Given the description of an element on the screen output the (x, y) to click on. 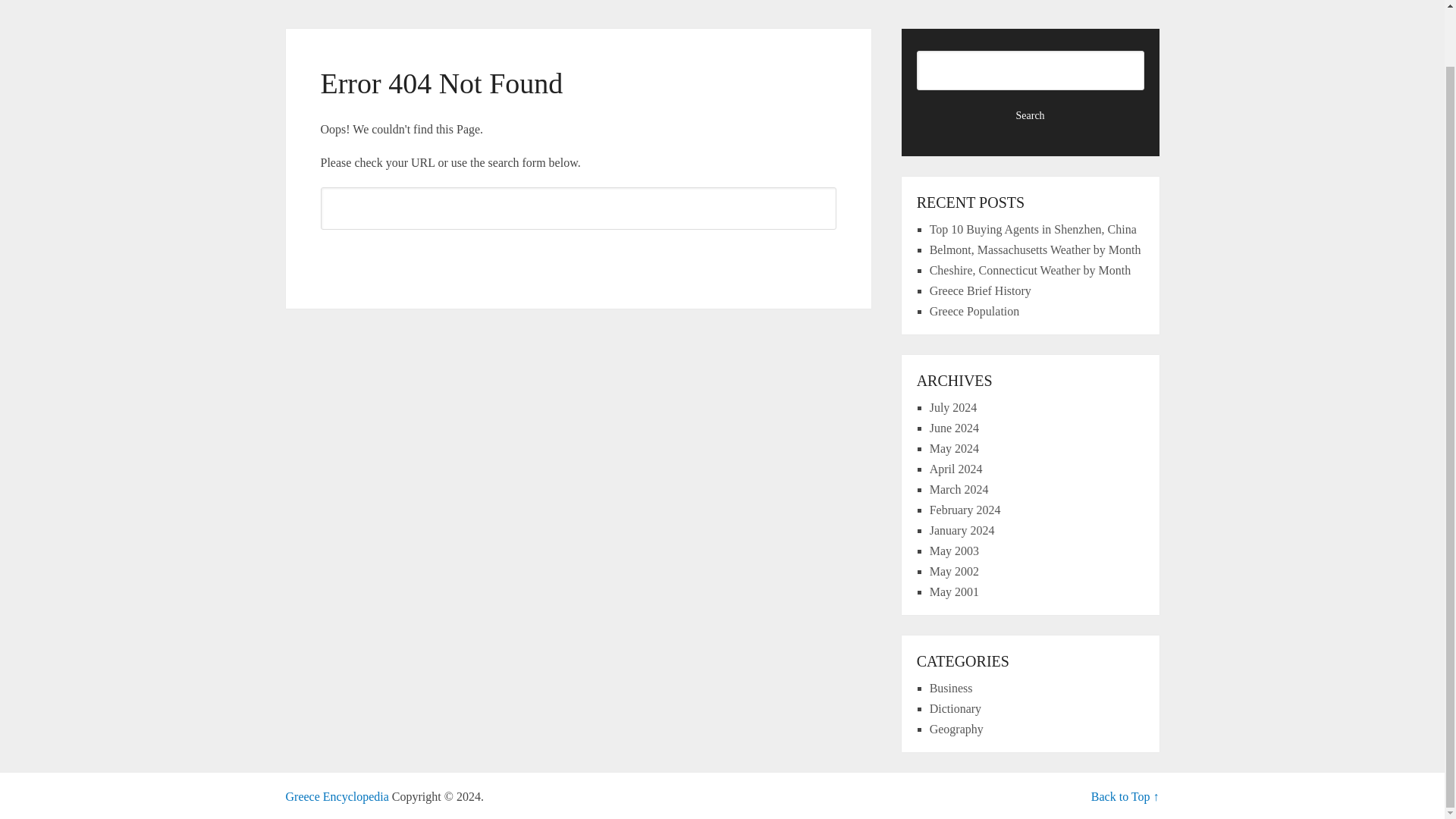
Search (577, 255)
May 2001 (954, 591)
Geography (957, 728)
Business (951, 687)
May 2024 (954, 448)
Dictionary (955, 707)
Greece Brief History (980, 290)
Search (1030, 115)
Search (1030, 115)
February 2024 (965, 509)
July 2024 (953, 407)
May 2003 (954, 550)
Greece Population (975, 310)
March 2024 (959, 489)
June 2024 (954, 427)
